Given the description of an element on the screen output the (x, y) to click on. 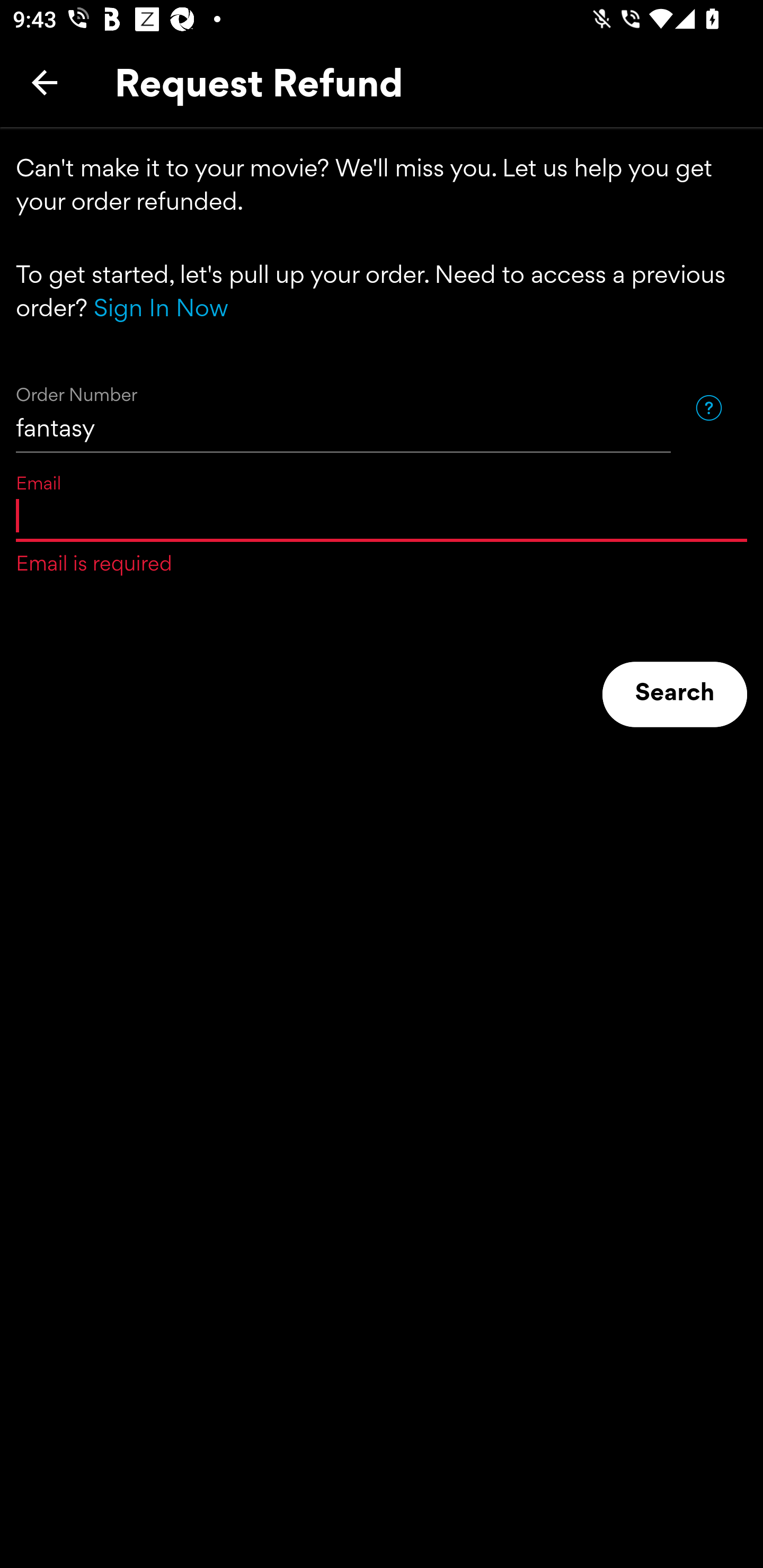
Back (44, 82)
fantasy (343, 408)
Help (708, 407)
Email is required (381, 515)
Search (674, 694)
